Given the description of an element on the screen output the (x, y) to click on. 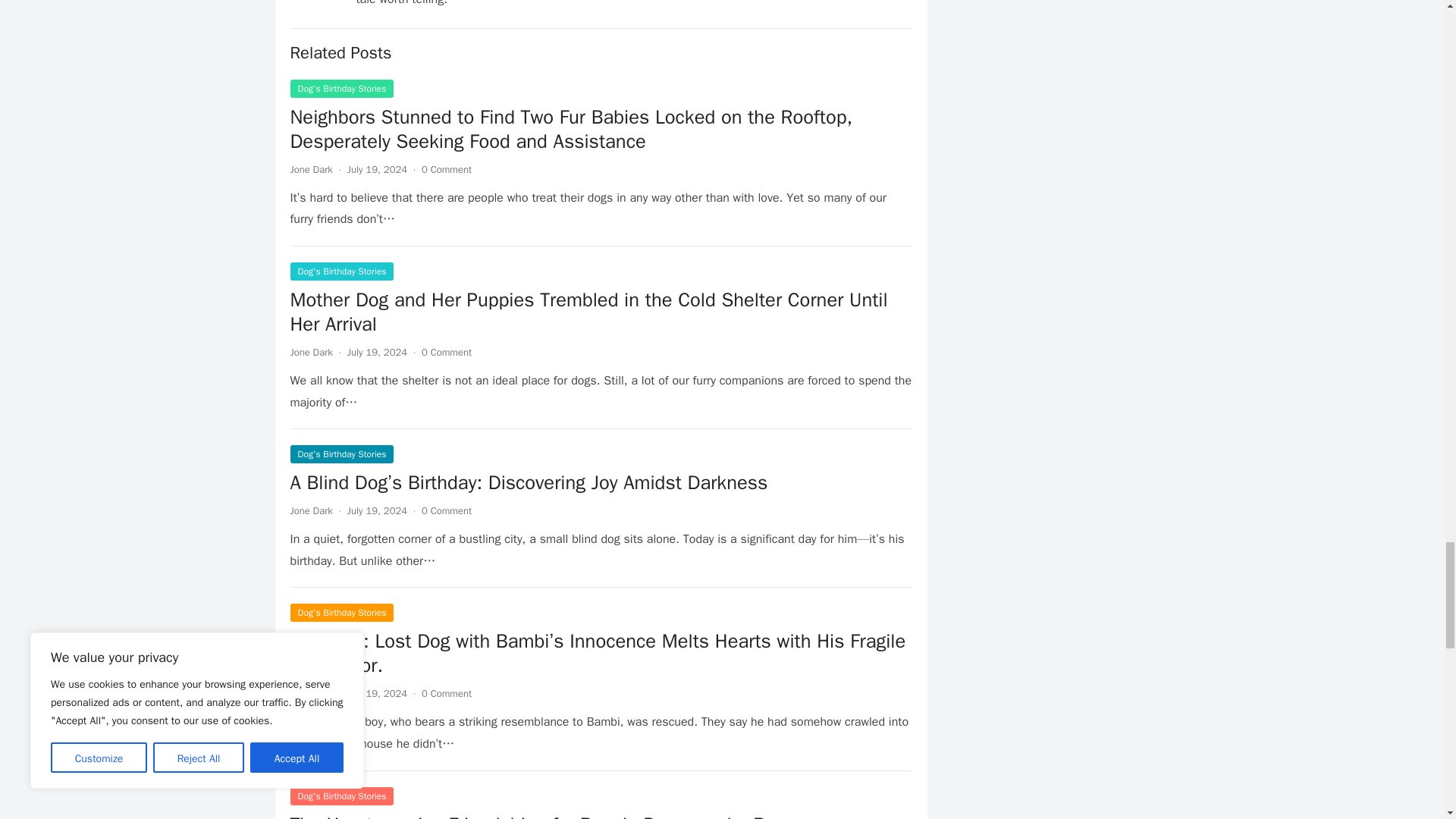
Posts by Jone Dark (310, 169)
Posts by Jone Dark (310, 351)
Posts by Jone Dark (310, 693)
Posts by Jone Dark (310, 510)
